Given the description of an element on the screen output the (x, y) to click on. 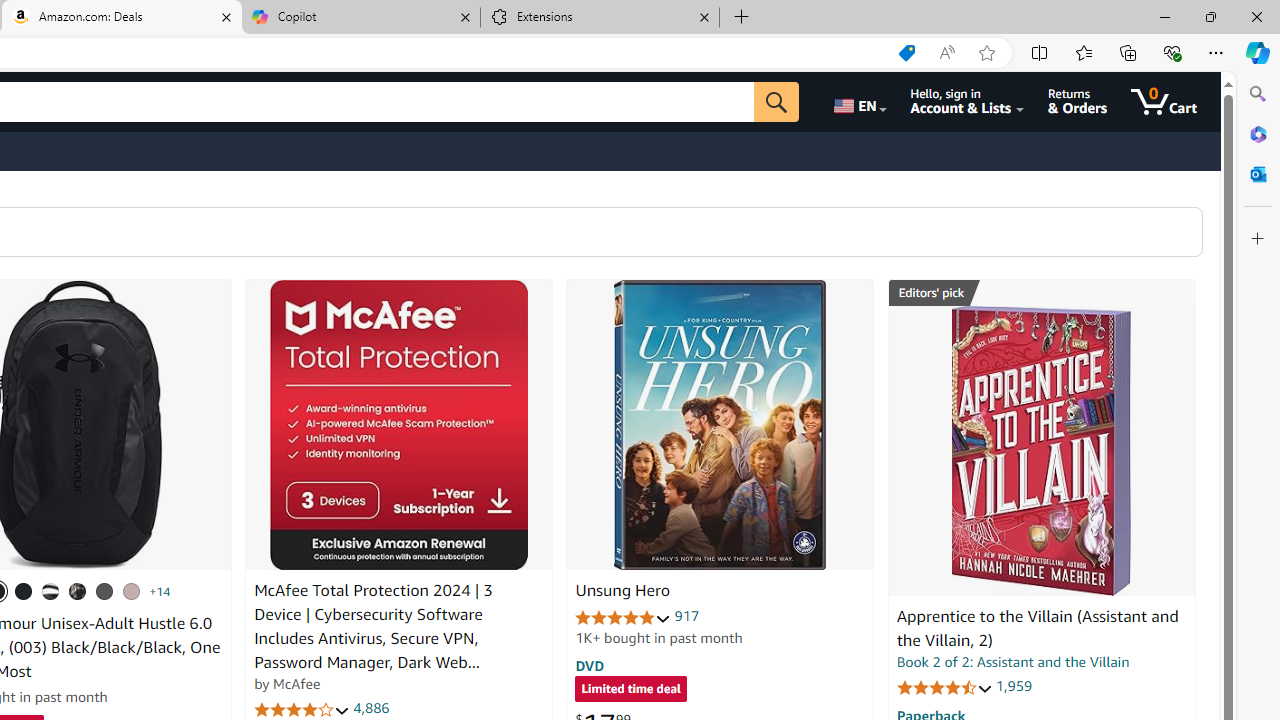
Unsung Hero (720, 425)
Extensions (600, 17)
Hello, sign in Account & Lists (967, 101)
(001) Black / Black / Metallic Gold (24, 591)
Apprentice to the Villain (Assistant and the Villain, 2) (1041, 451)
(015) Tetra Gray / Tetra Gray / Gray Matter (131, 591)
